Given the description of an element on the screen output the (x, y) to click on. 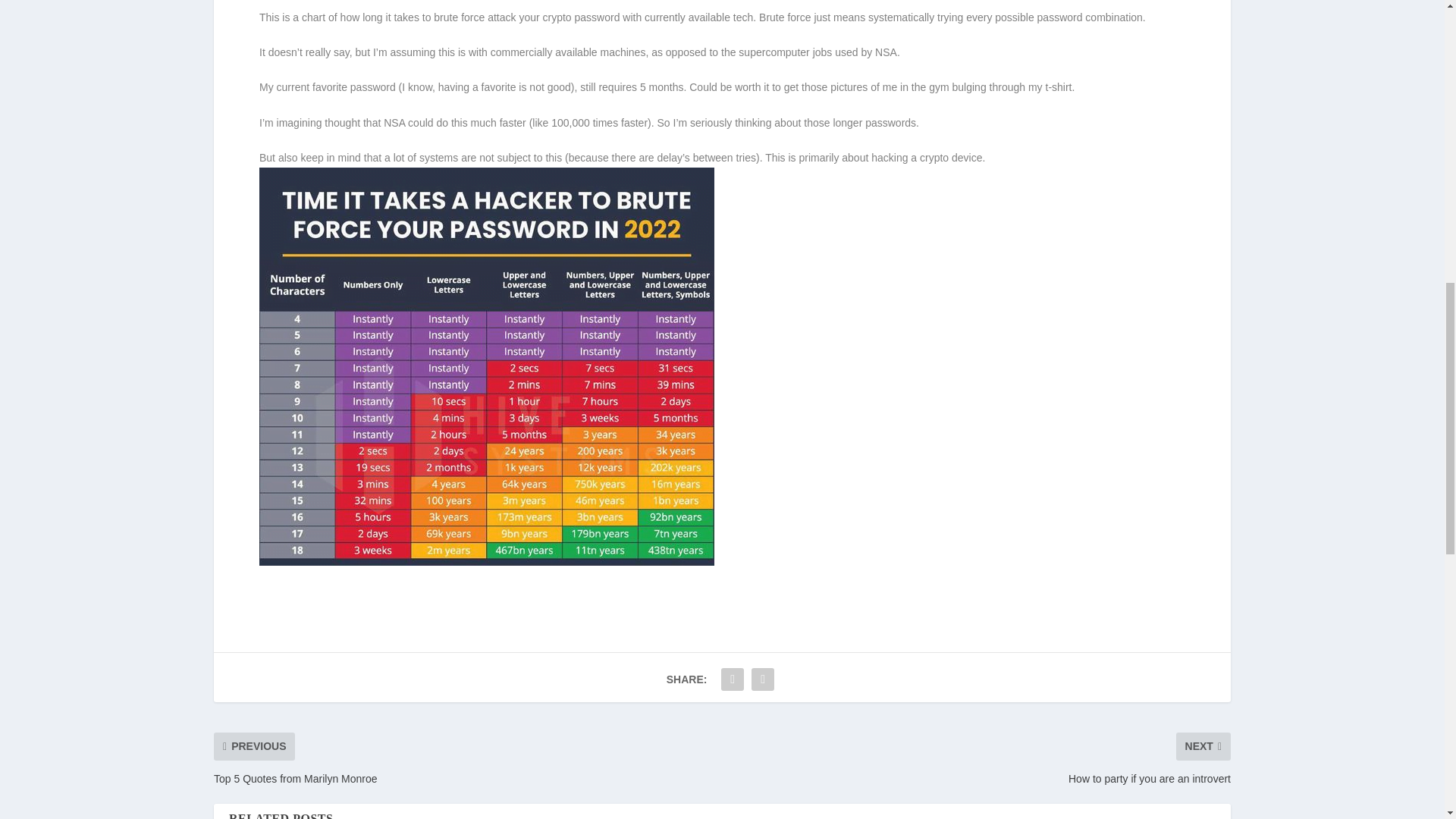
Share "How Long to Hack your Password?" via Twitter (762, 679)
Share "How Long to Hack your Password?" via Facebook (732, 679)
